Given the description of an element on the screen output the (x, y) to click on. 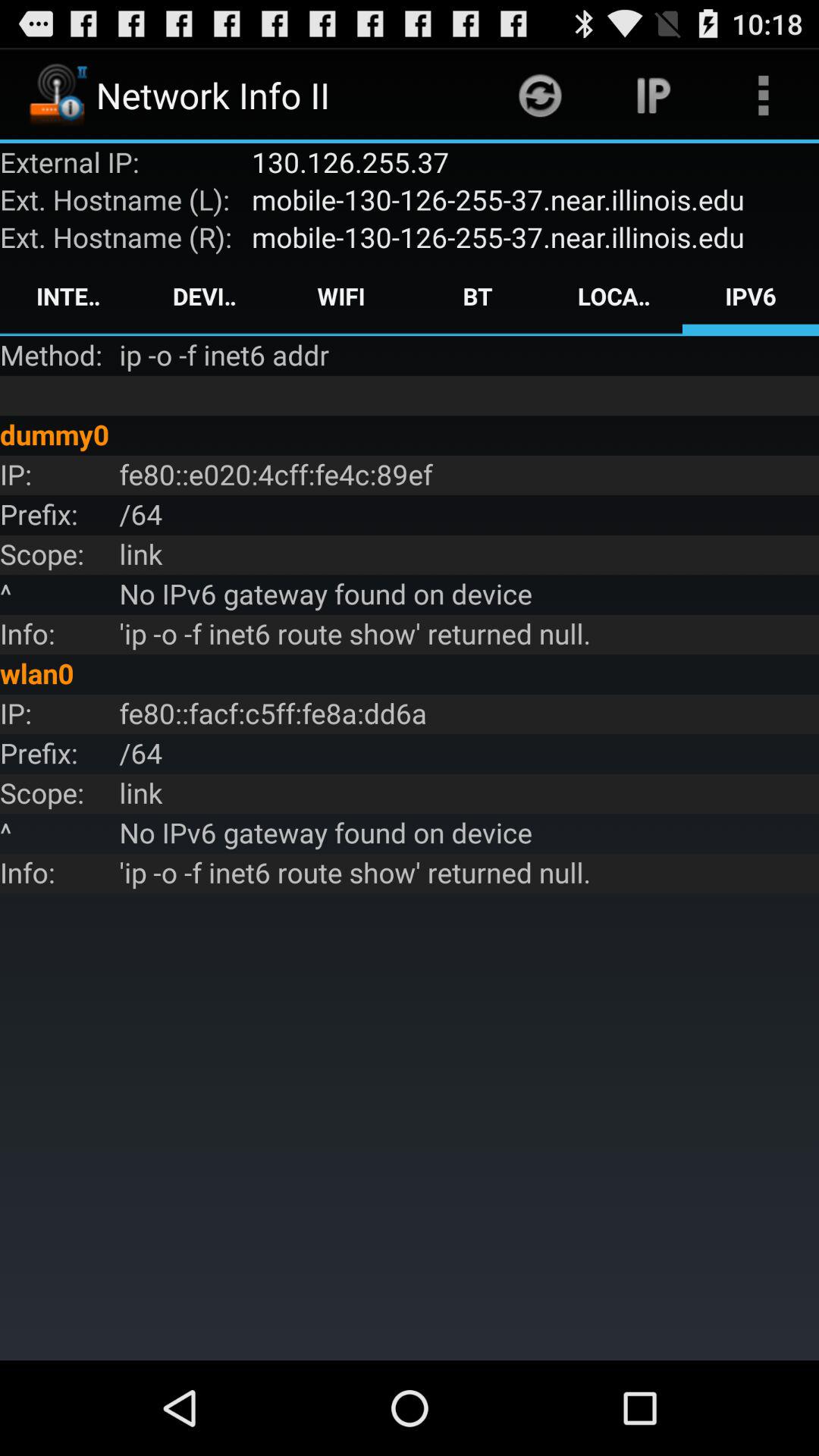
flip to the interface (68, 295)
